Given the description of an element on the screen output the (x, y) to click on. 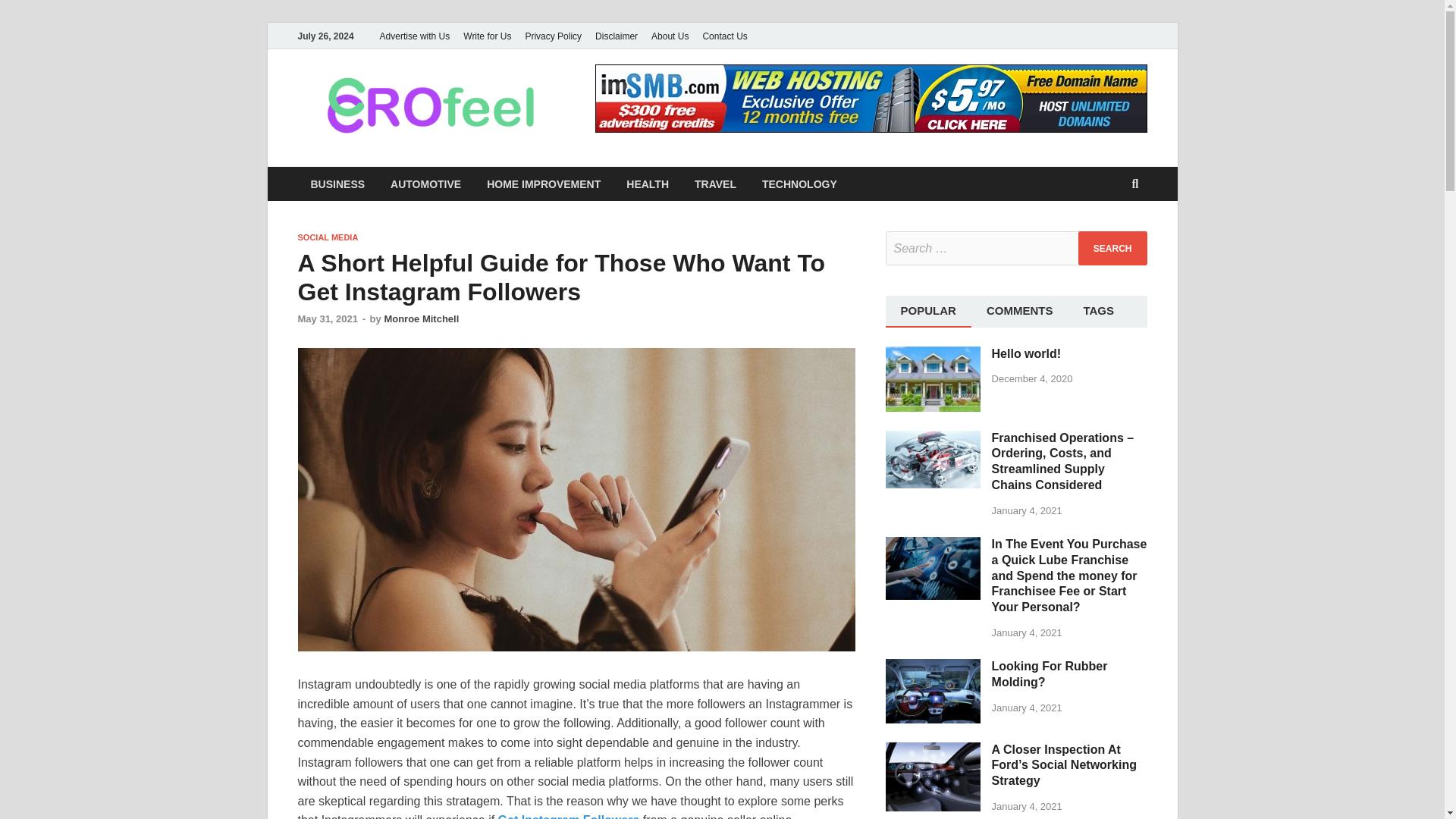
Hello world! (932, 354)
TECHNOLOGY (799, 183)
Search (1112, 247)
HEALTH (646, 183)
TRAVEL (715, 183)
Monroe Mitchell (421, 318)
Privacy Policy (553, 35)
About Us (670, 35)
Write for Us (487, 35)
BUSINESS (337, 183)
Contact Us (724, 35)
EroFeel (625, 100)
AUTOMOTIVE (425, 183)
May 31, 2021 (327, 318)
